Given the description of an element on the screen output the (x, y) to click on. 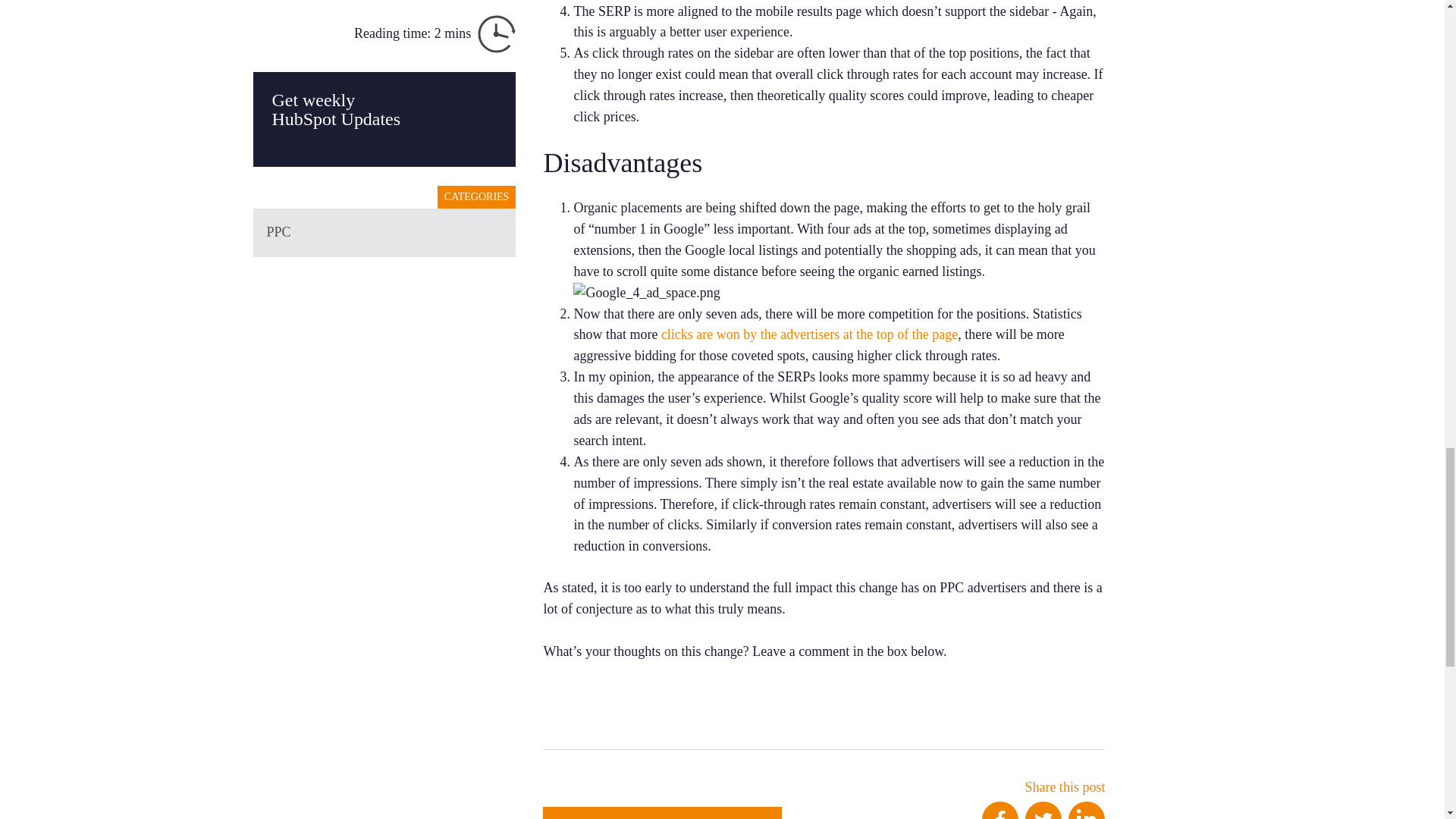
Twitter (1043, 810)
LinkedIn (1086, 810)
clicks are won by the advertisers at the top of the page (809, 334)
Facebook (999, 810)
Home (662, 812)
